Given the description of an element on the screen output the (x, y) to click on. 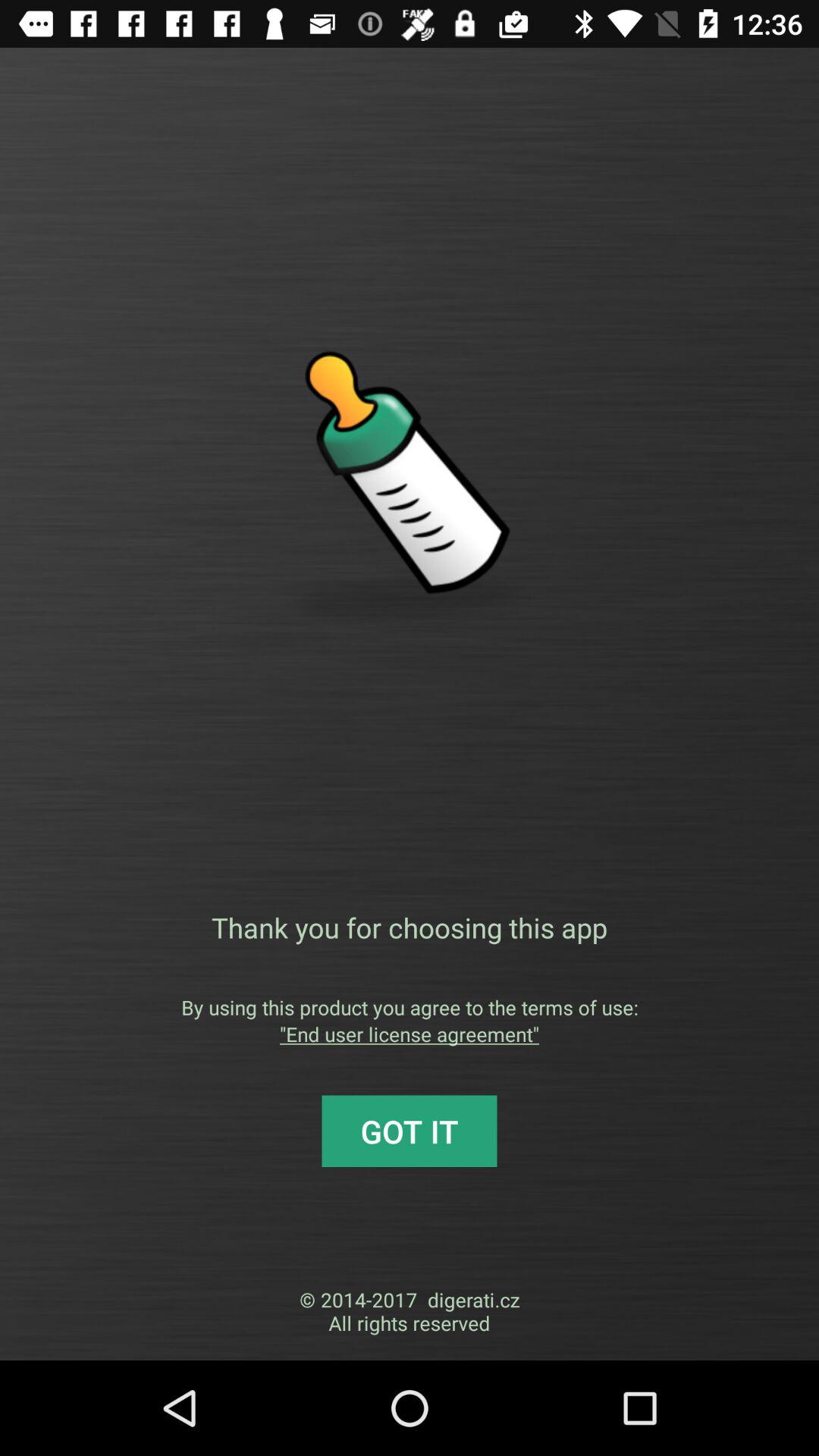
press the button above the got it item (409, 1033)
